Given the description of an element on the screen output the (x, y) to click on. 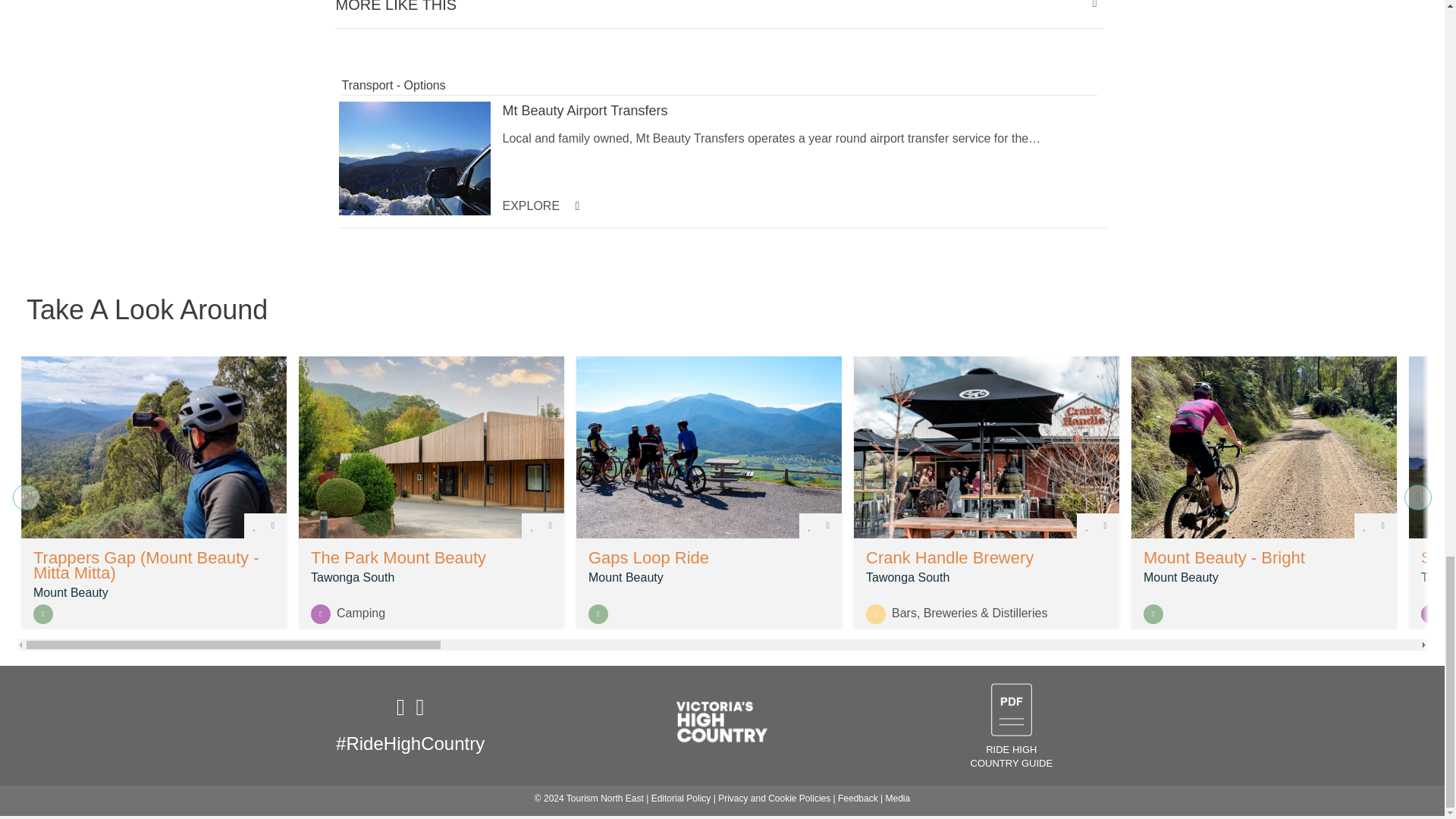
MORE LIKE THIS (721, 11)
